Given the description of an element on the screen output the (x, y) to click on. 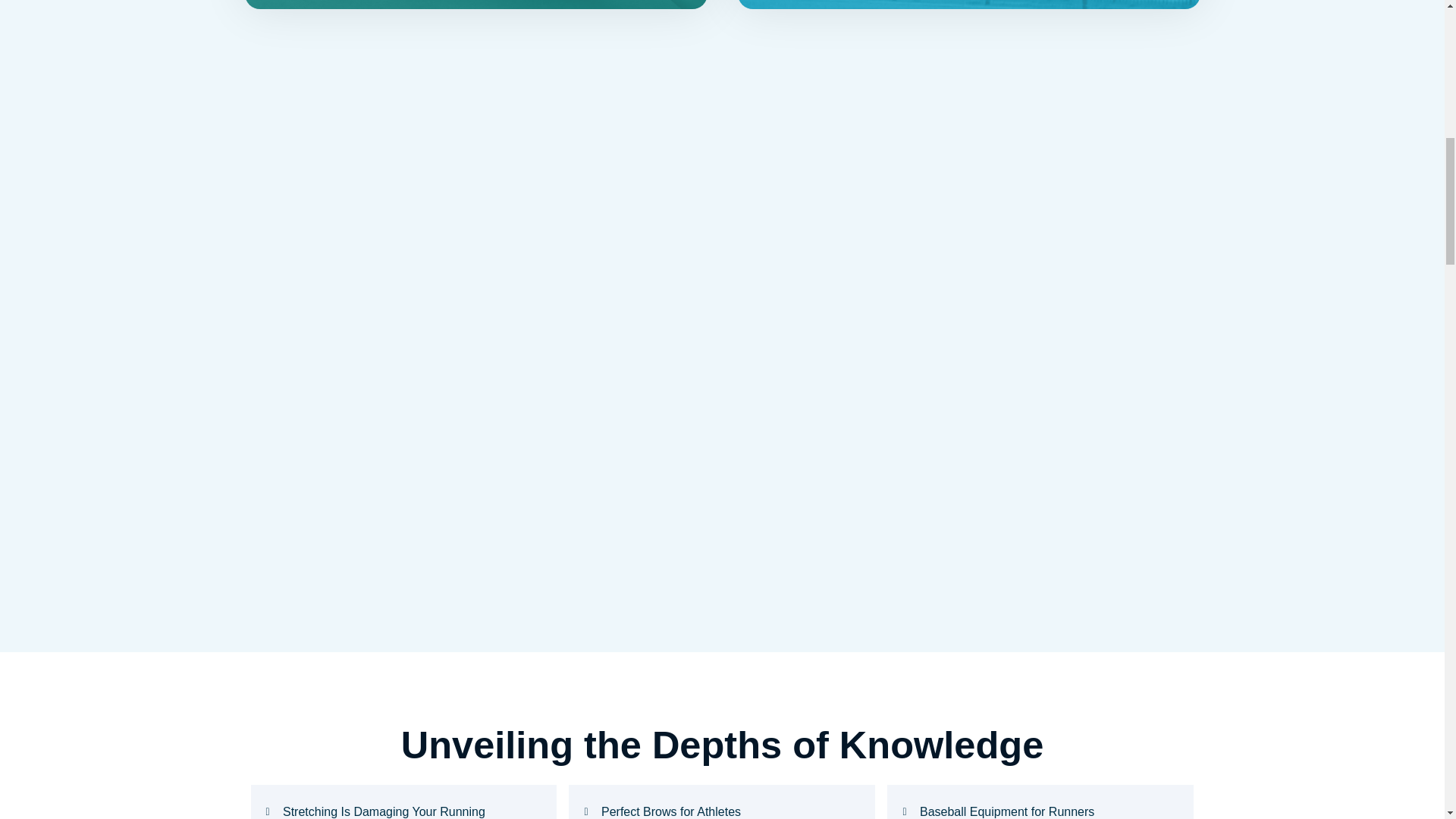
Stretching Is Damaging Your Running (402, 809)
Perfect Brows for Athletes (721, 809)
Baseball Equipment for Runners (1039, 809)
